Given the description of an element on the screen output the (x, y) to click on. 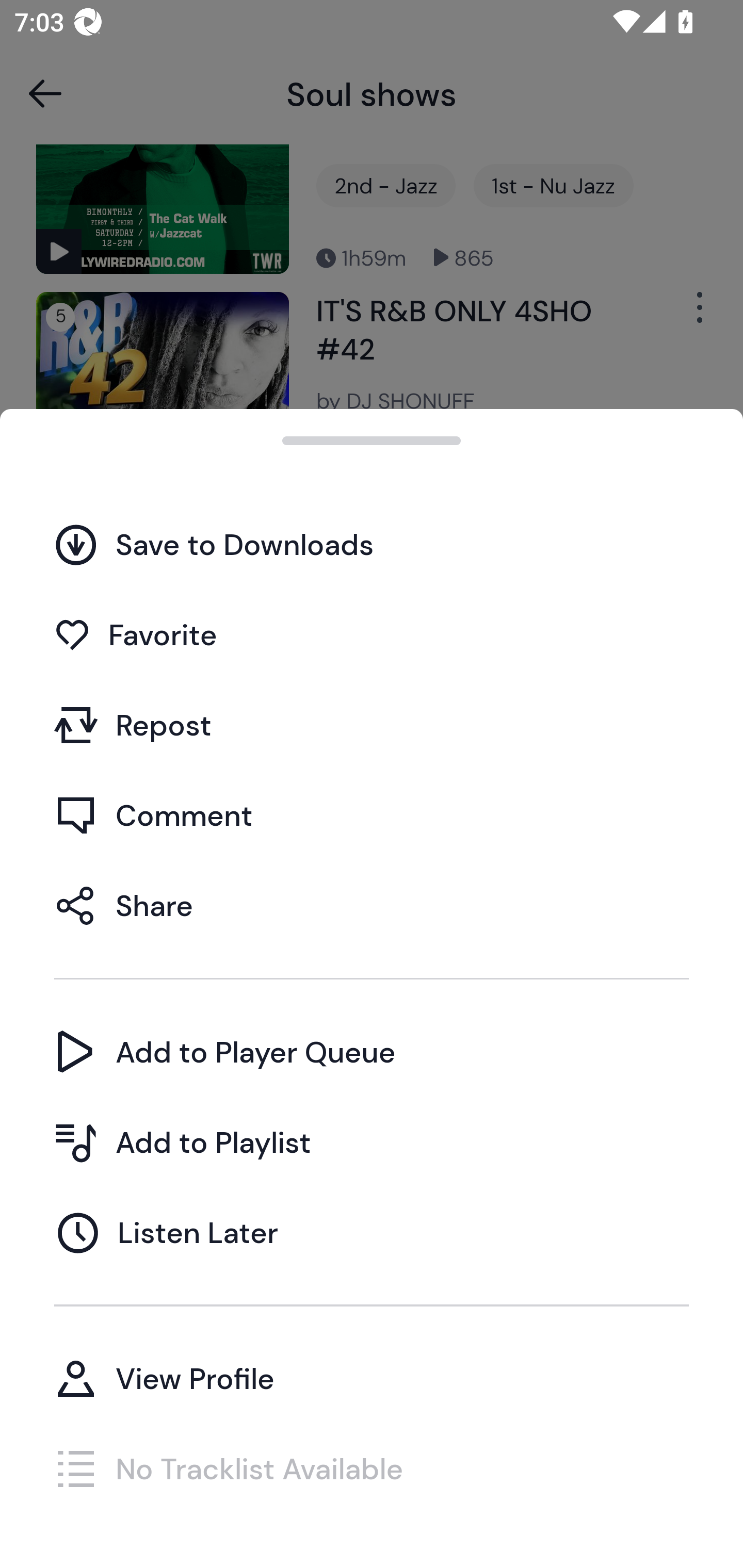
Save to Downloads (371, 543)
Favorite (371, 634)
Repost (371, 724)
Comment (371, 814)
Share (371, 905)
Add to Player Queue (371, 1051)
Add to Playlist (371, 1141)
Listen Later (371, 1231)
View Profile (371, 1377)
No Tracklist Available (371, 1468)
